Given the description of an element on the screen output the (x, y) to click on. 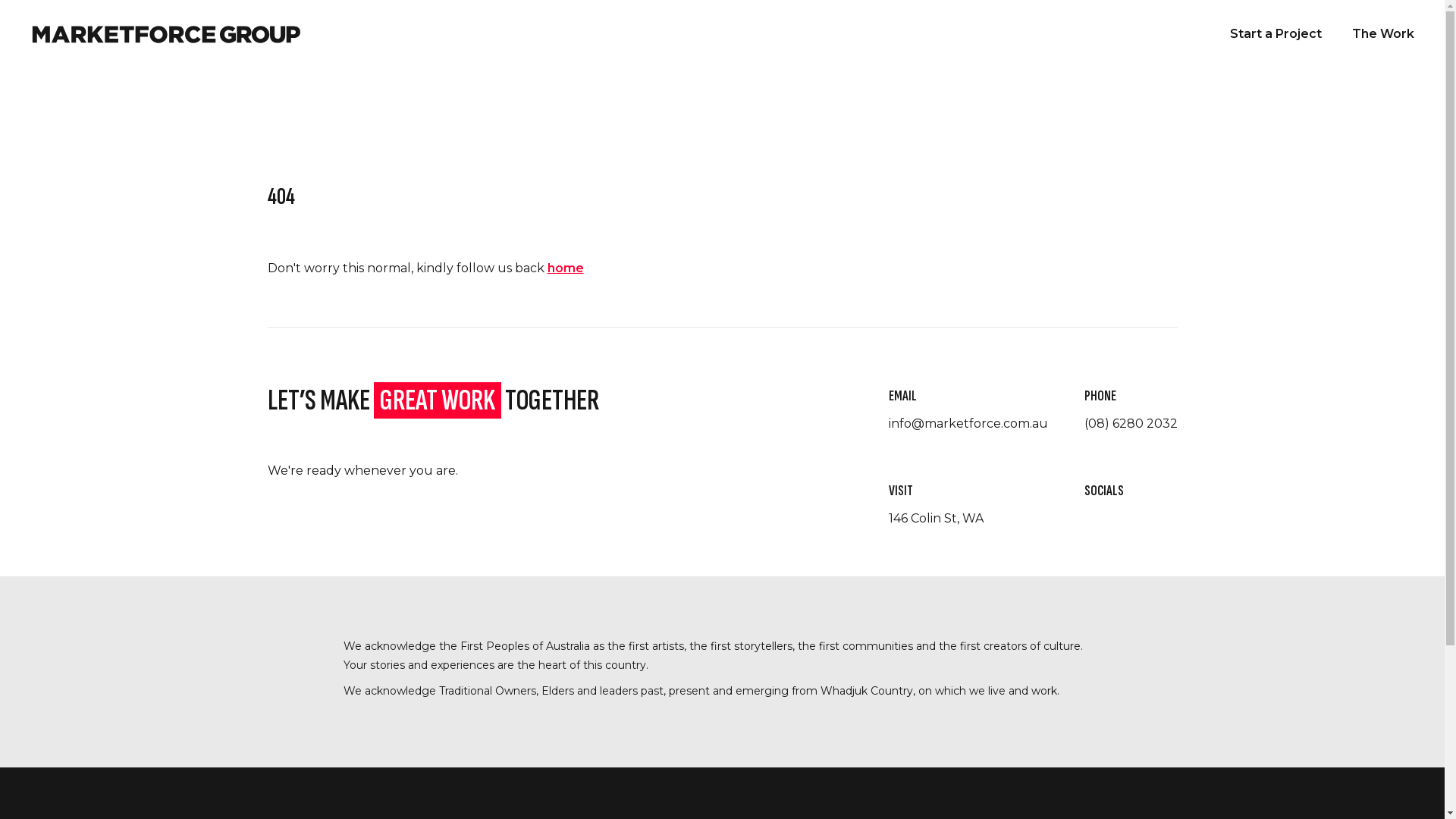
home Element type: text (565, 267)
(08) 6280 2032 Element type: text (1130, 423)
We're ready whenever you are. Element type: text (361, 470)
info@marketforce.com.au Element type: text (968, 423)
Start a Project Element type: text (1275, 33)
Marketforce Element type: text (162, 34)
146 Colin St, WA Element type: text (935, 518)
The Work Element type: text (1383, 33)
